Given the description of an element on the screen output the (x, y) to click on. 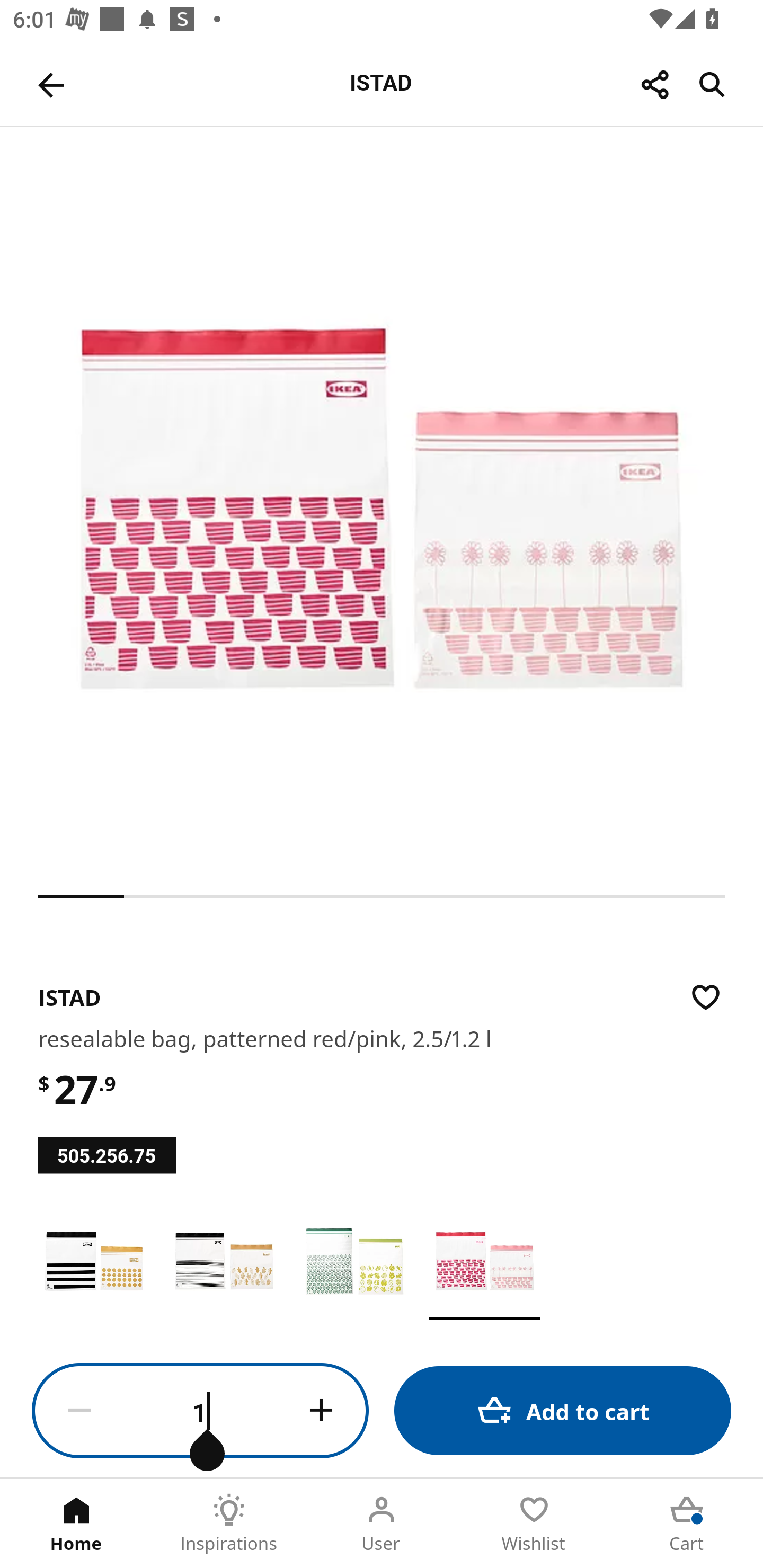
Add to cart (562, 1410)
1 (200, 1411)
Home
Tab 1 of 5 (76, 1522)
Inspirations
Tab 2 of 5 (228, 1522)
User
Tab 3 of 5 (381, 1522)
Wishlist
Tab 4 of 5 (533, 1522)
Cart
Tab 5 of 5 (686, 1522)
